Given the description of an element on the screen output the (x, y) to click on. 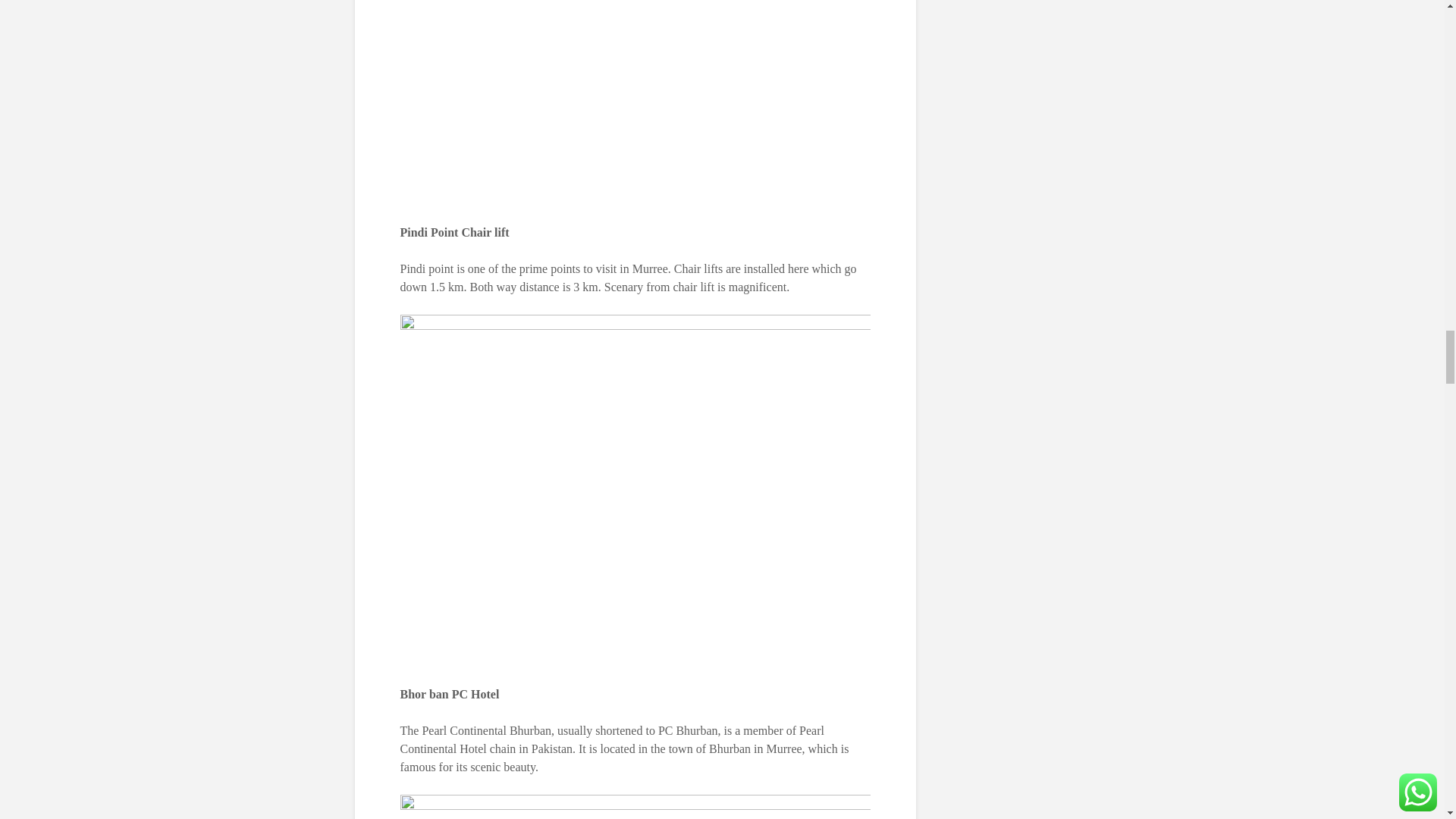
Kuldana (635, 806)
Pindi Point Chair lift (635, 102)
